Given the description of an element on the screen output the (x, y) to click on. 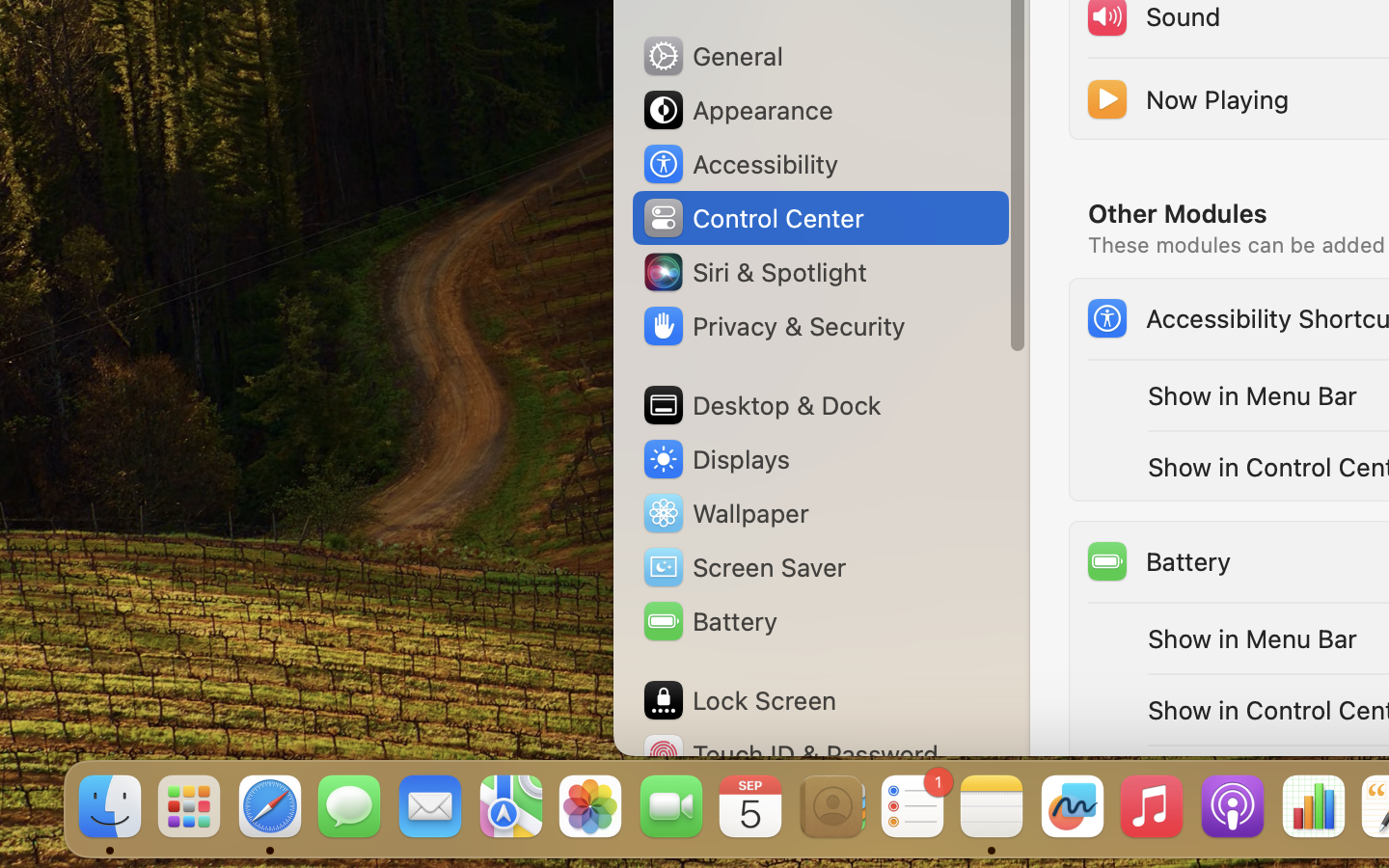
Desktop & Dock Element type: AXStaticText (760, 404)
Appearance Element type: AXStaticText (736, 109)
Displays Element type: AXStaticText (715, 458)
Screen Saver Element type: AXStaticText (743, 566)
Now Playing Element type: AXStaticText (1186, 98)
